Given the description of an element on the screen output the (x, y) to click on. 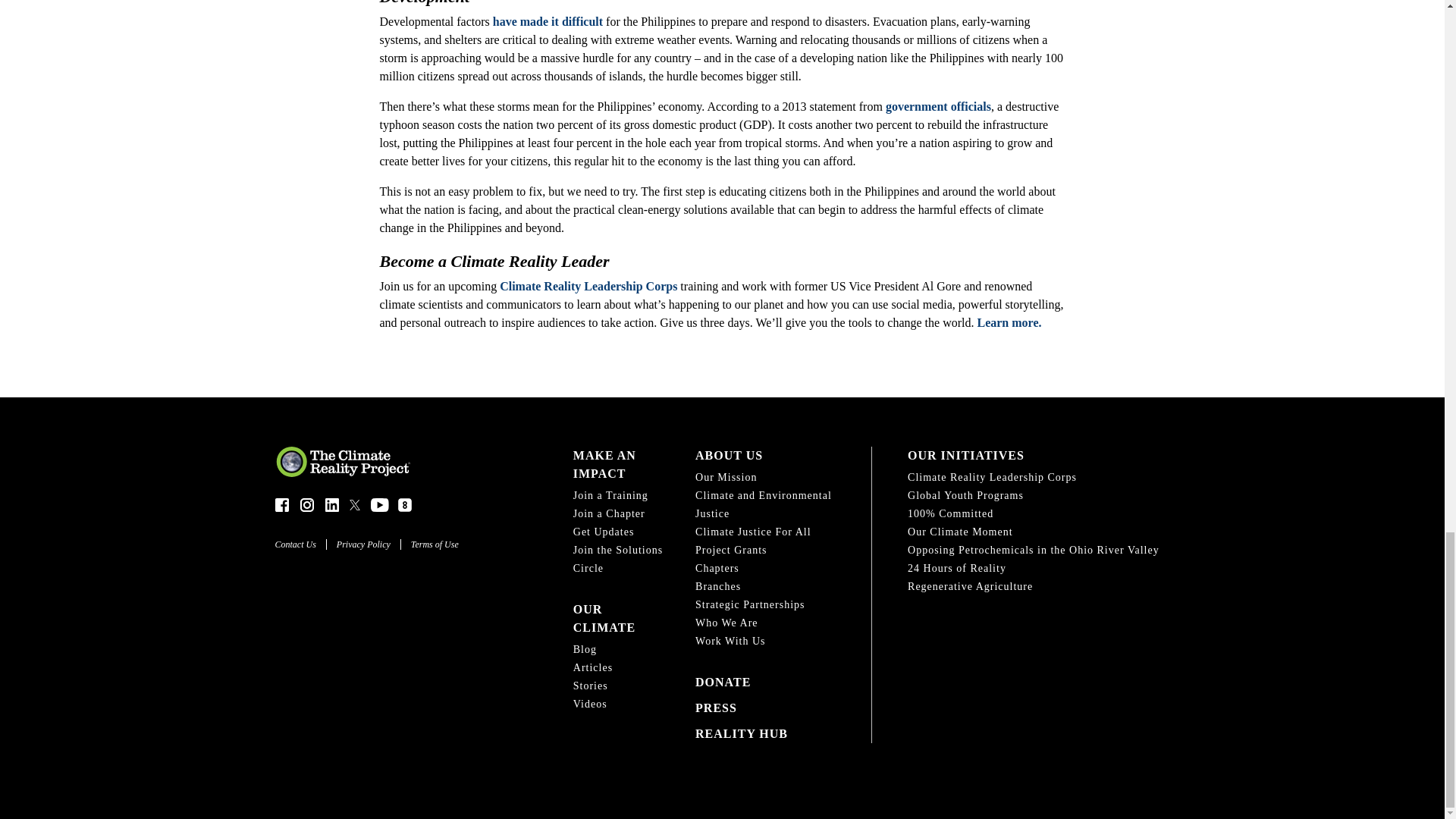
Climate Reality Leadership Corps (588, 286)
Contact Us (300, 543)
Privacy Policy (368, 543)
Terms of Use (439, 543)
Learn more. (1008, 322)
MAKE AN IMPACT (619, 464)
government officials (938, 106)
have made it difficult (547, 21)
